Given the description of an element on the screen output the (x, y) to click on. 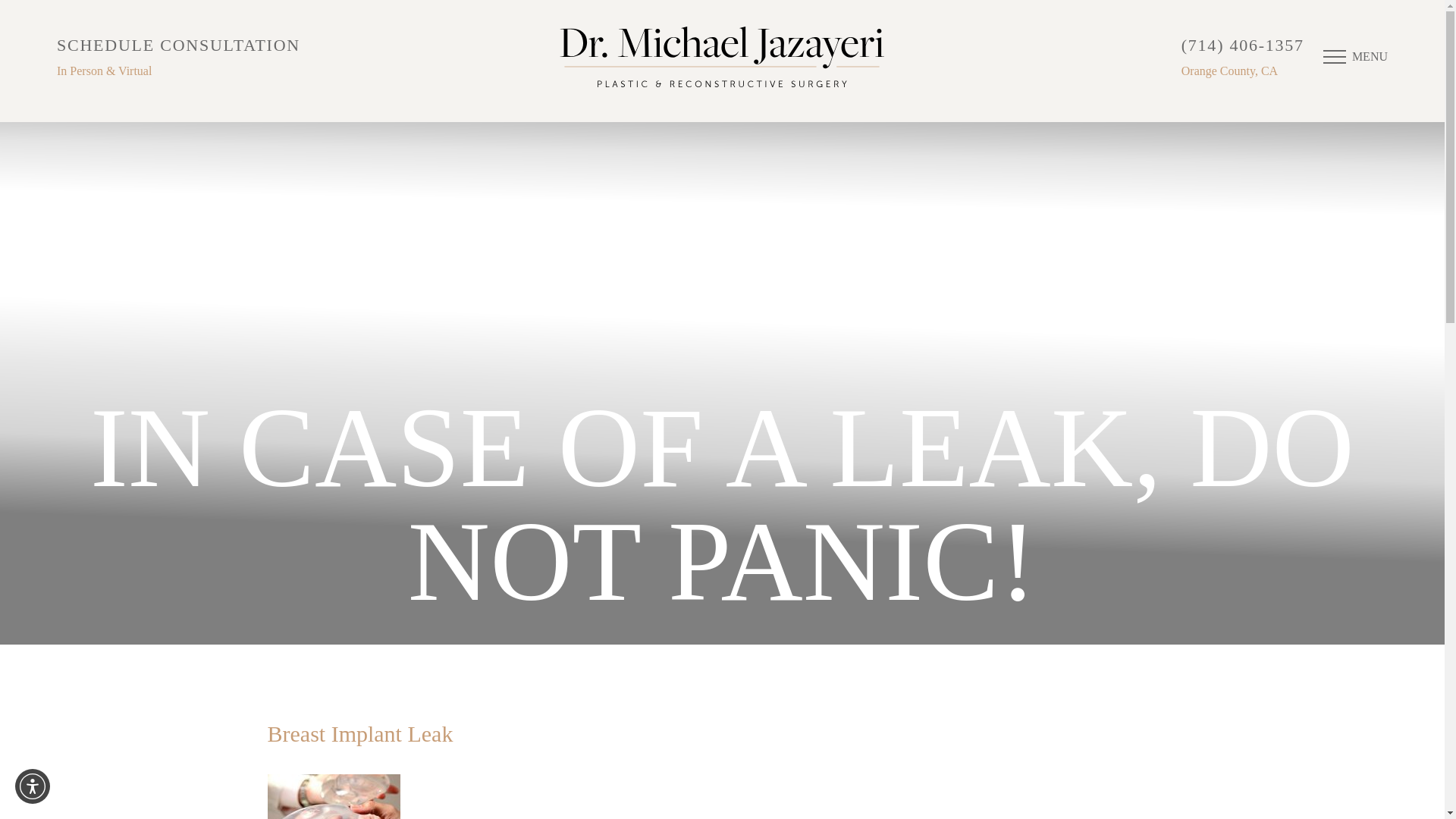
SCHEDULE CONSULTATION (177, 44)
breast implants orange county (332, 796)
